Given the description of an element on the screen output the (x, y) to click on. 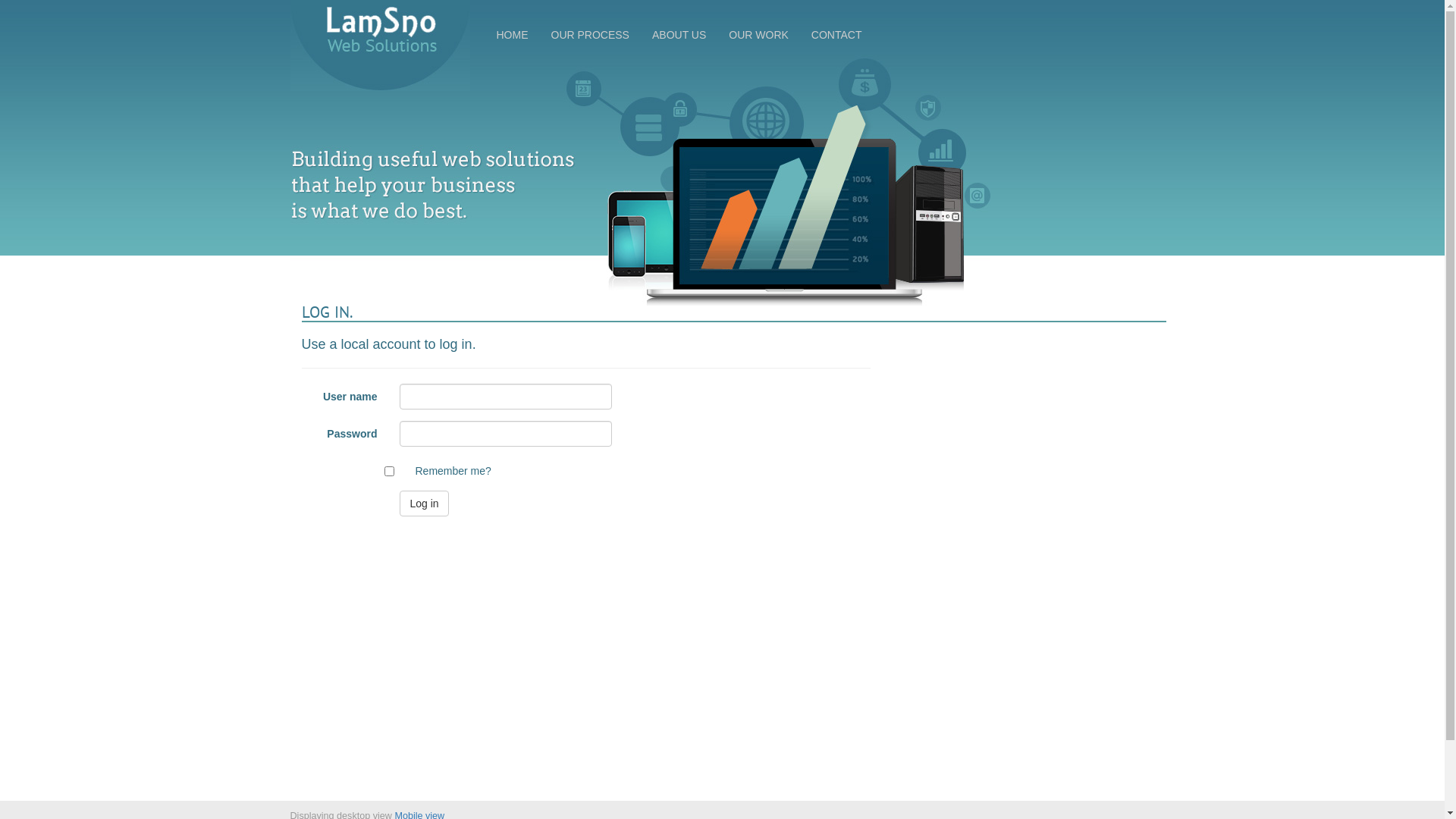
HOME Element type: text (512, 34)
ABOUT US Element type: text (678, 34)
CONTACT Element type: text (836, 34)
Log in Element type: text (423, 503)
OUR PROCESS Element type: text (589, 34)
OUR WORK Element type: text (758, 34)
